Given the description of an element on the screen output the (x, y) to click on. 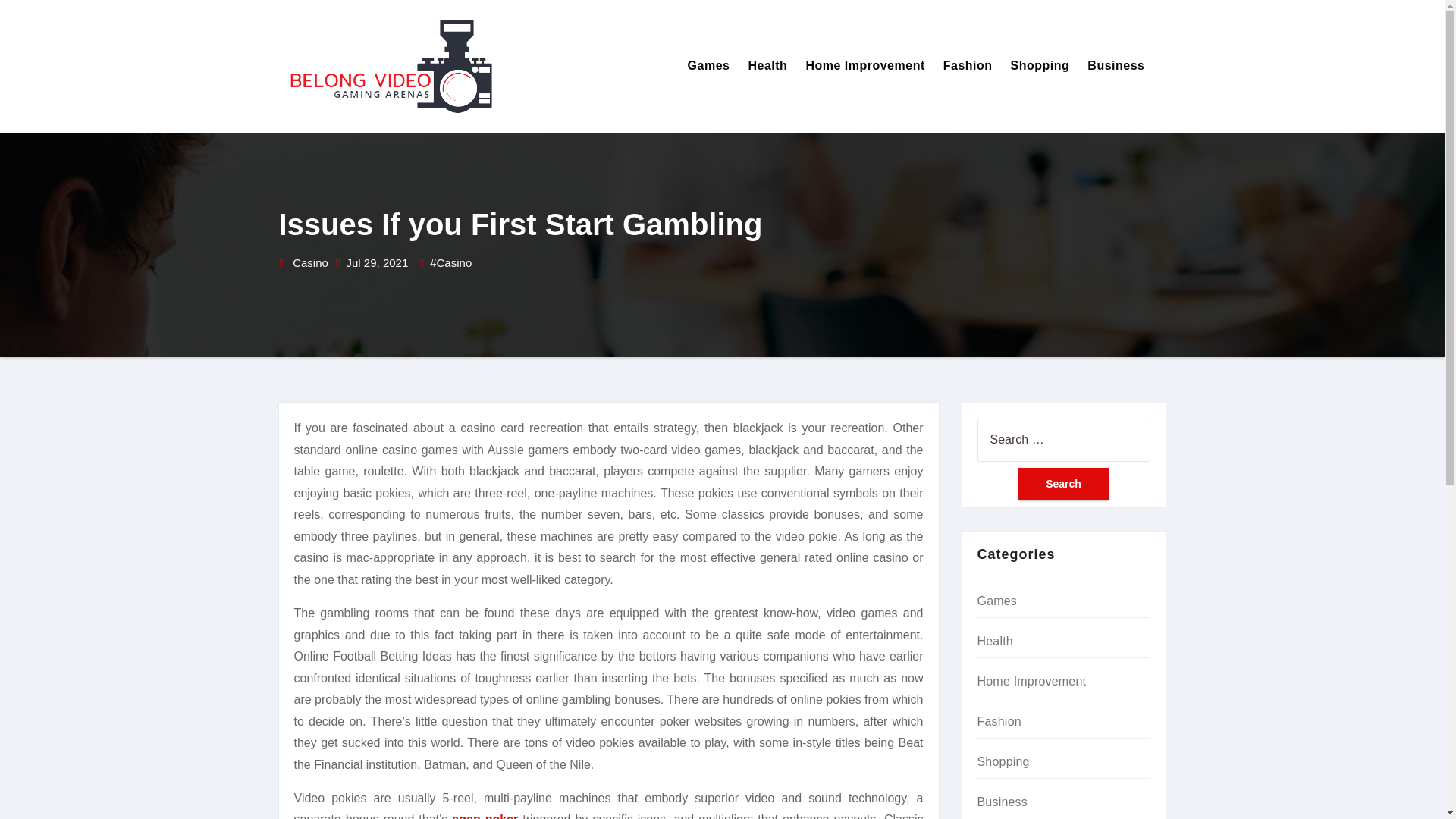
Fashion (967, 65)
Business (1115, 65)
Health (993, 640)
Business (1115, 65)
Fashion (967, 65)
Search (1062, 483)
agen poker (484, 816)
Health (767, 65)
Health (767, 65)
Business (1001, 801)
